Given the description of an element on the screen output the (x, y) to click on. 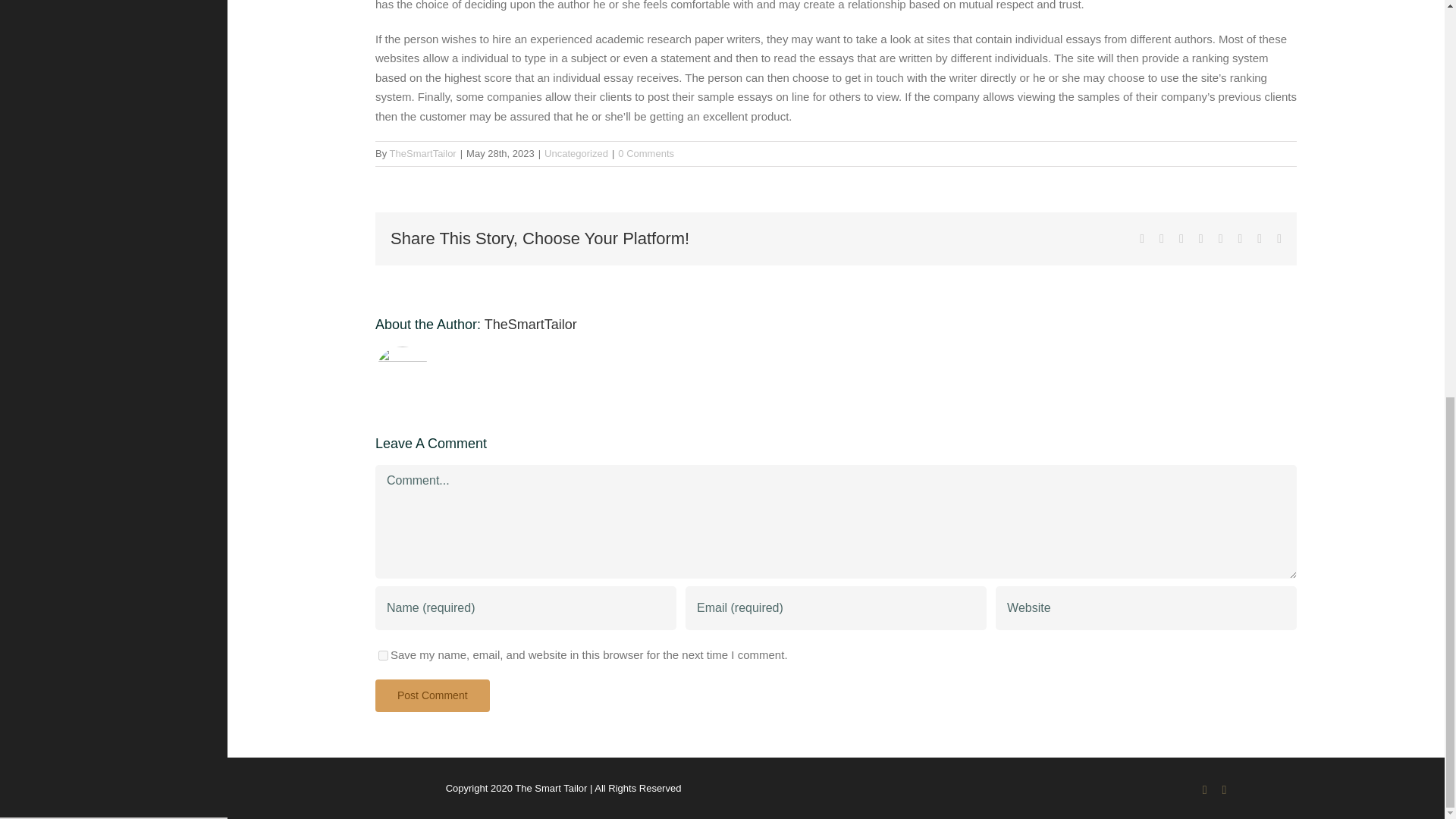
Posts by TheSmartTailor (423, 153)
Posts by TheSmartTailor (530, 324)
yes (383, 655)
Post Comment (432, 695)
